Given the description of an element on the screen output the (x, y) to click on. 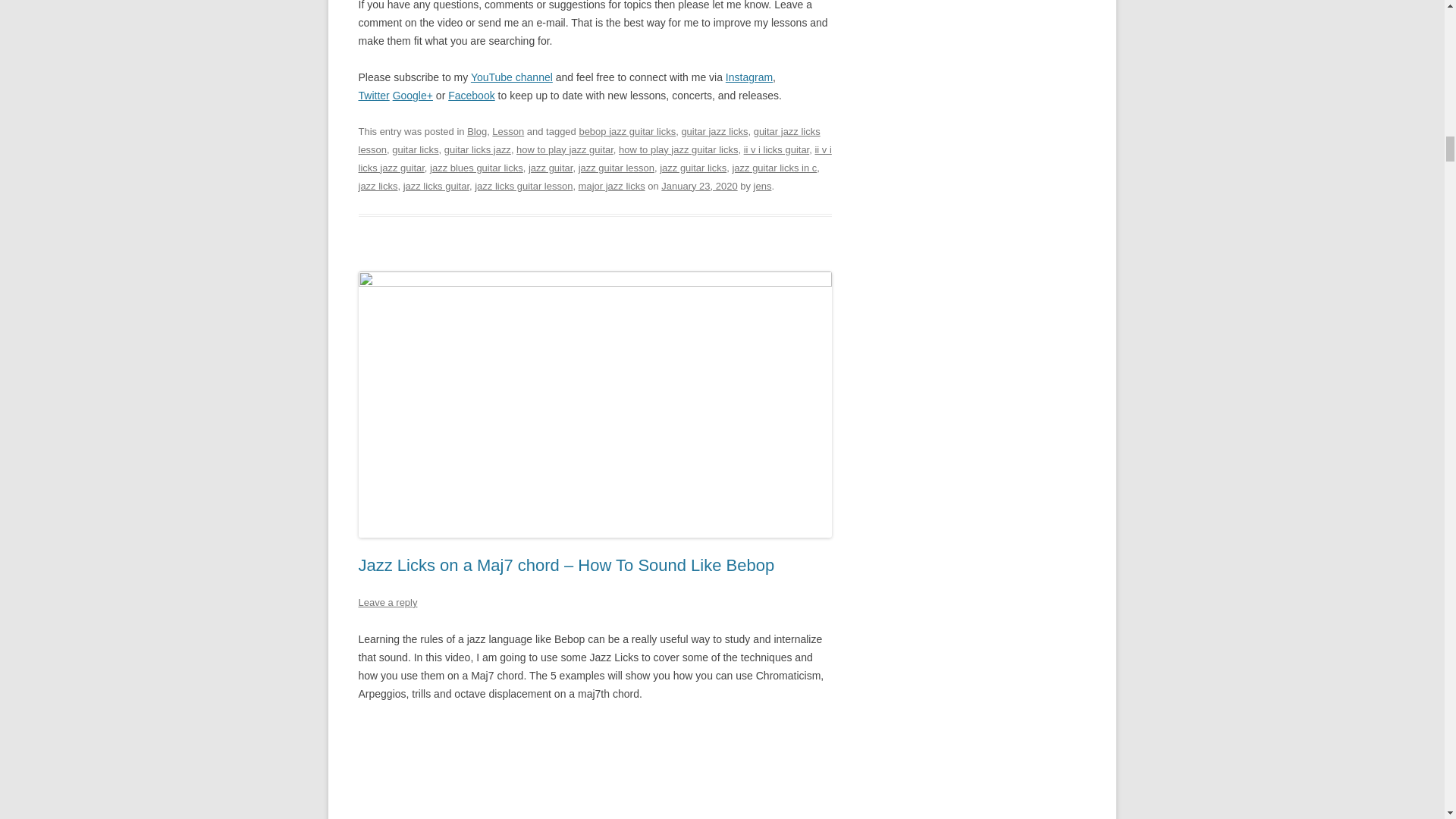
guitar licks jazz (477, 149)
Jazz Licks on a Maj7 chord - How To Sound Like Bebop (594, 770)
jazz blues guitar licks (475, 167)
guitar jazz licks lesson (588, 140)
guitar jazz licks (714, 131)
Instagram (749, 77)
guitar licks (414, 149)
View all posts by jens (762, 185)
Lesson (508, 131)
Blog (476, 131)
how to play jazz guitar licks (678, 149)
ii v i licks jazz guitar (594, 158)
Facebook (471, 95)
bebop jazz guitar licks (626, 131)
YouTube channel (511, 77)
